Given the description of an element on the screen output the (x, y) to click on. 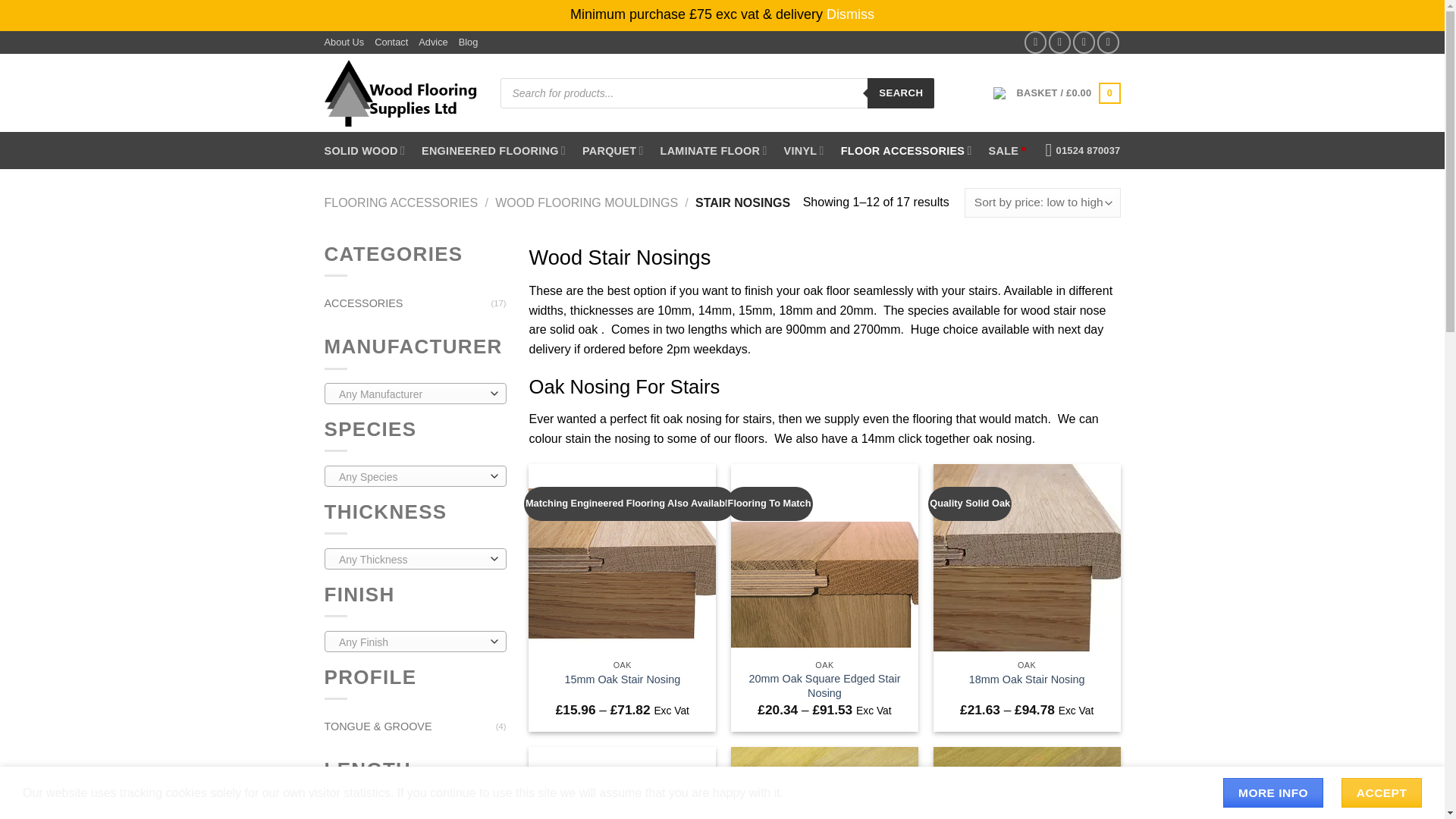
Pin on Pinterest (1083, 42)
About Us (344, 42)
Contact (390, 42)
Advice (432, 42)
Dismiss (851, 14)
Share on Twitter (1059, 42)
ENGINEERED FLOORING (494, 150)
SEARCH (900, 92)
01524 870037 (1083, 149)
Share on Facebook (1035, 42)
